Given the description of an element on the screen output the (x, y) to click on. 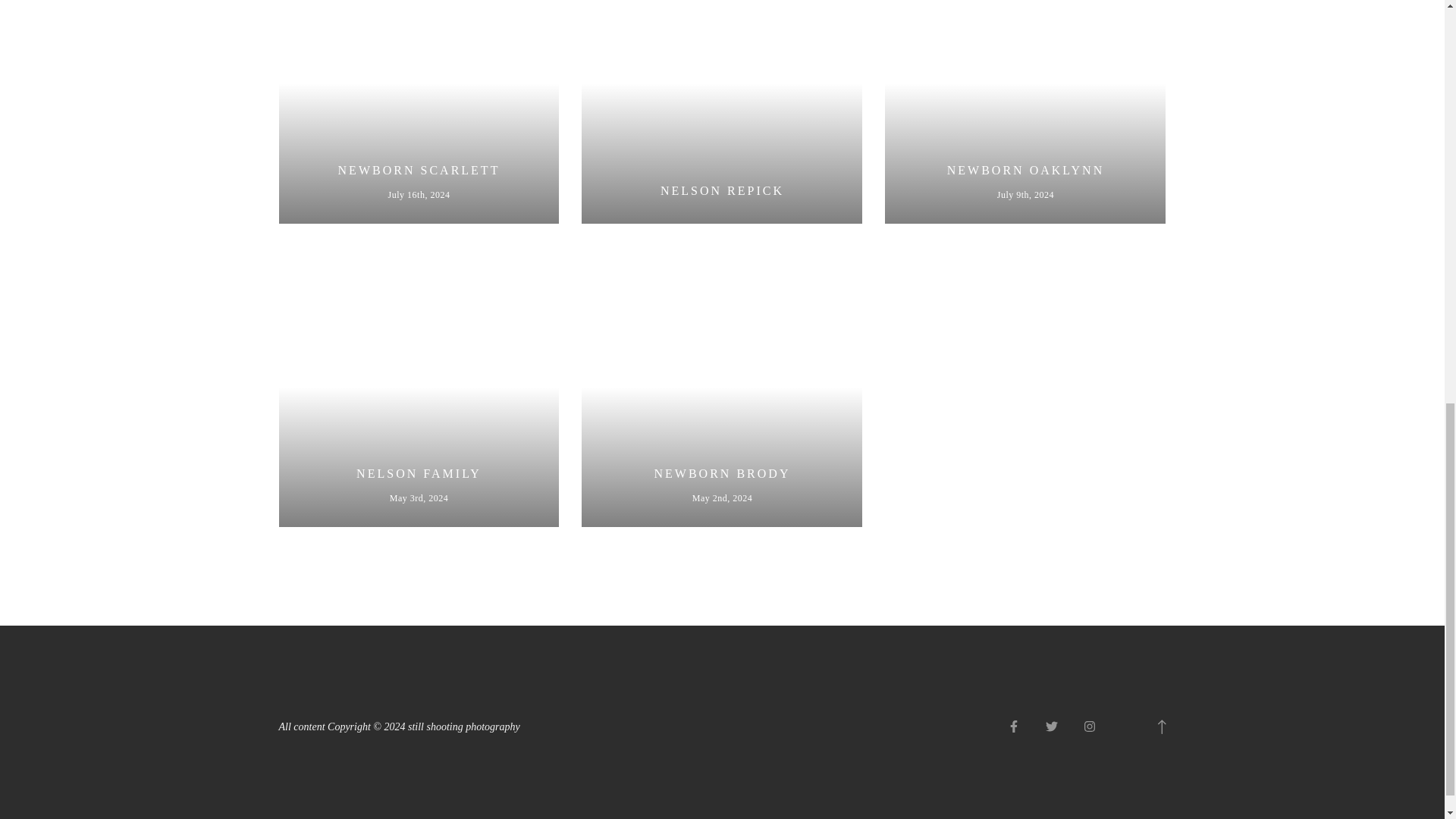
NELSON REPICK (720, 111)
